Given the description of an element on the screen output the (x, y) to click on. 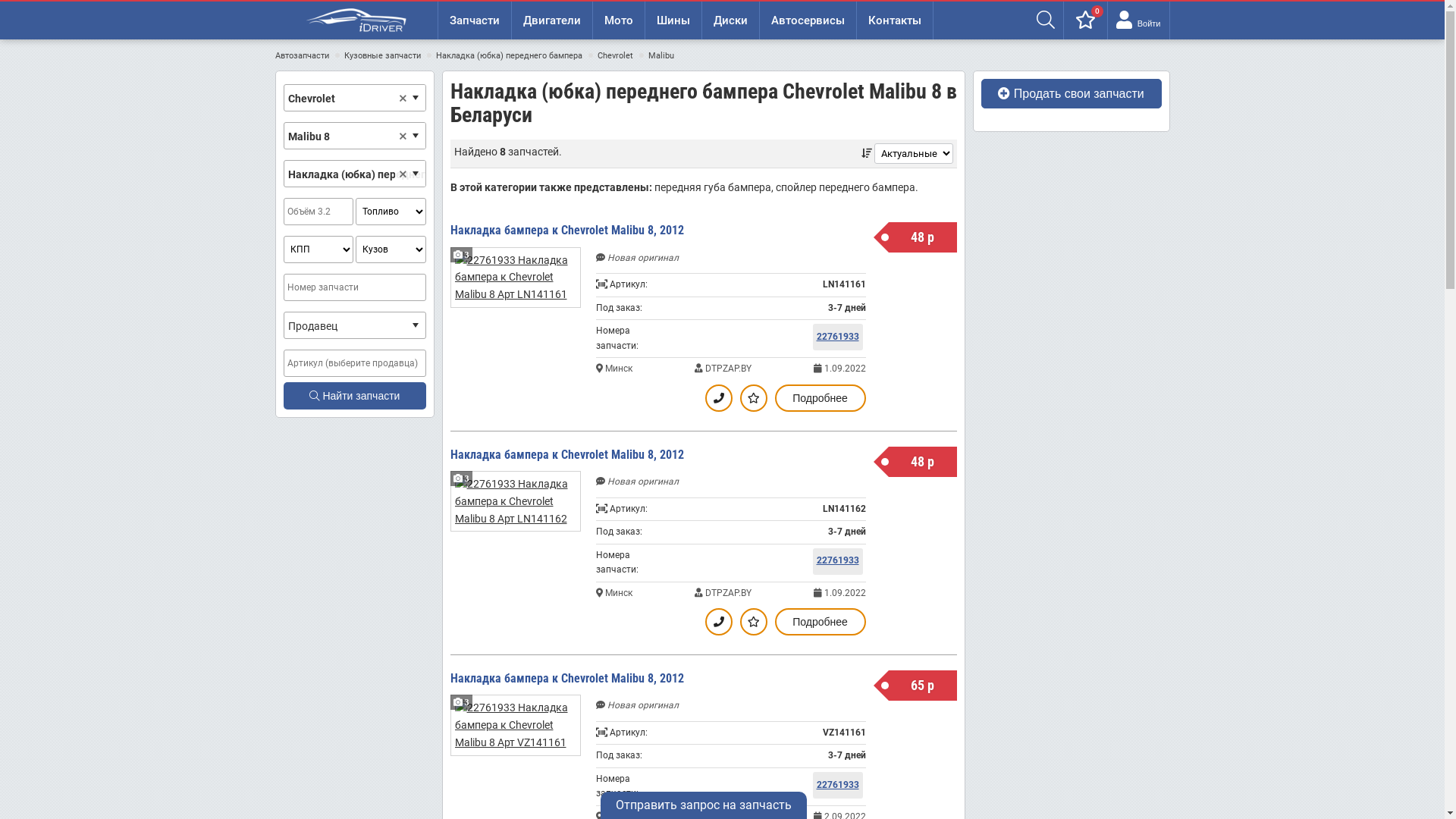
Chevrolet Element type: text (615, 55)
22761933 Element type: text (837, 784)
22761933 Element type: text (837, 560)
Malibu Element type: text (660, 55)
0 Element type: text (1085, 20)
22761933 Element type: text (837, 336)
